Given the description of an element on the screen output the (x, y) to click on. 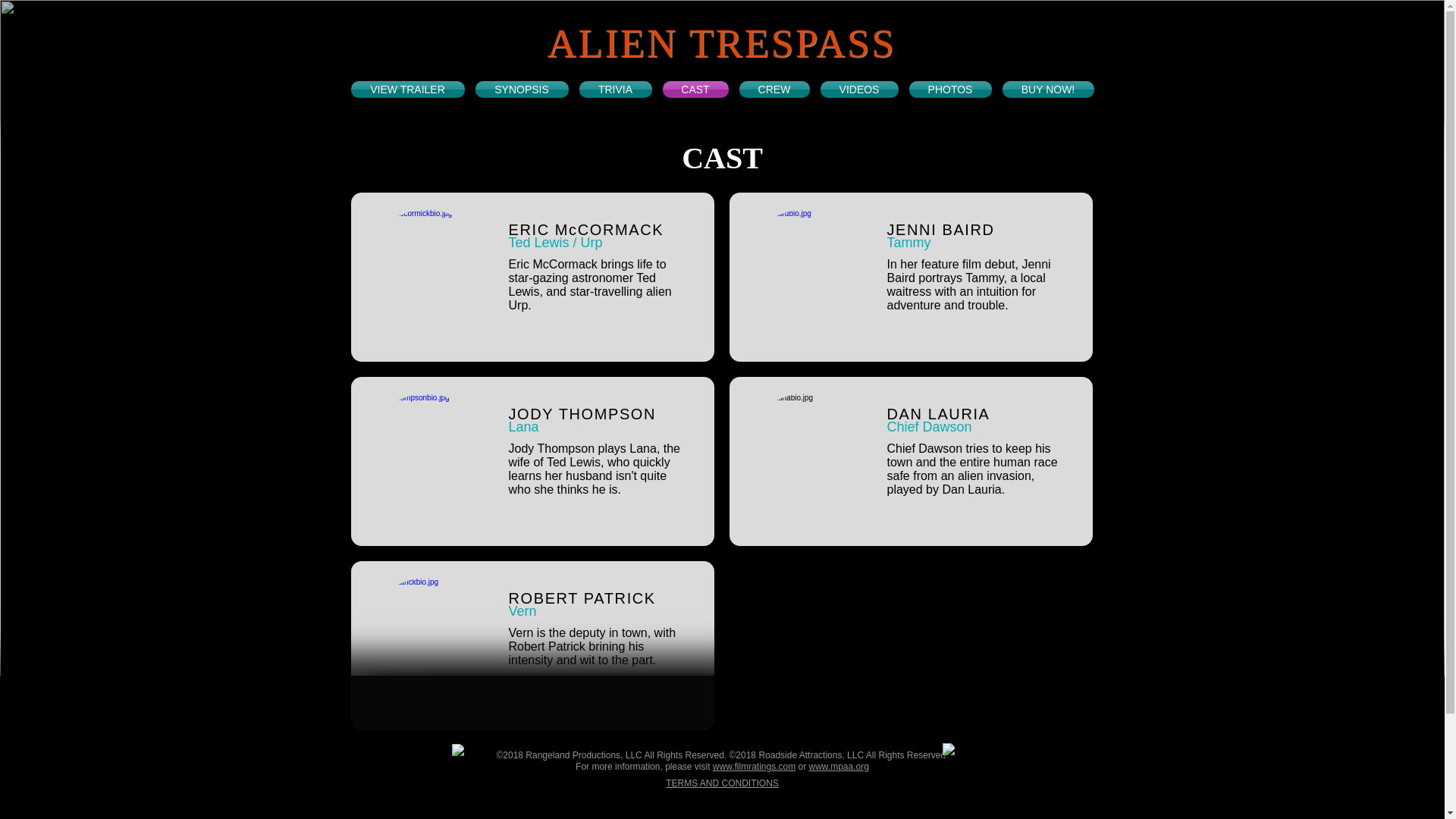
PHOTOS (950, 89)
ALIEN TRESPASS (721, 43)
TRIVIA (614, 89)
VIDEOS (857, 89)
SYNOPSIS (521, 89)
CREW (774, 89)
CAST (694, 89)
www.filmratings.com (753, 766)
TERMS AND CONDITIONS (721, 783)
www.mpaa.org (839, 766)
